Given the description of an element on the screen output the (x, y) to click on. 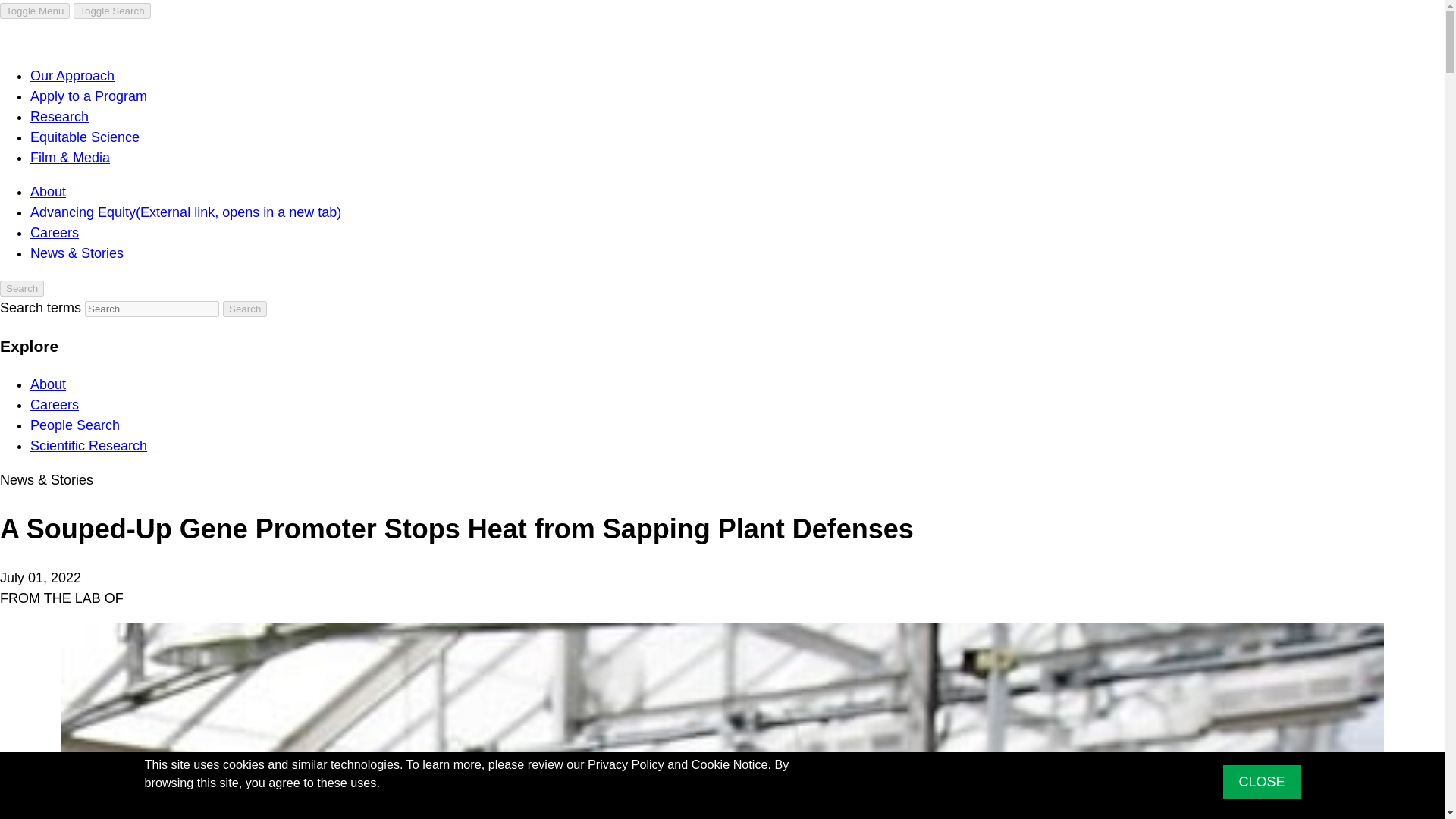
CLOSE (1261, 781)
Privacy Policy and Cookie Notice (678, 764)
